Given the description of an element on the screen output the (x, y) to click on. 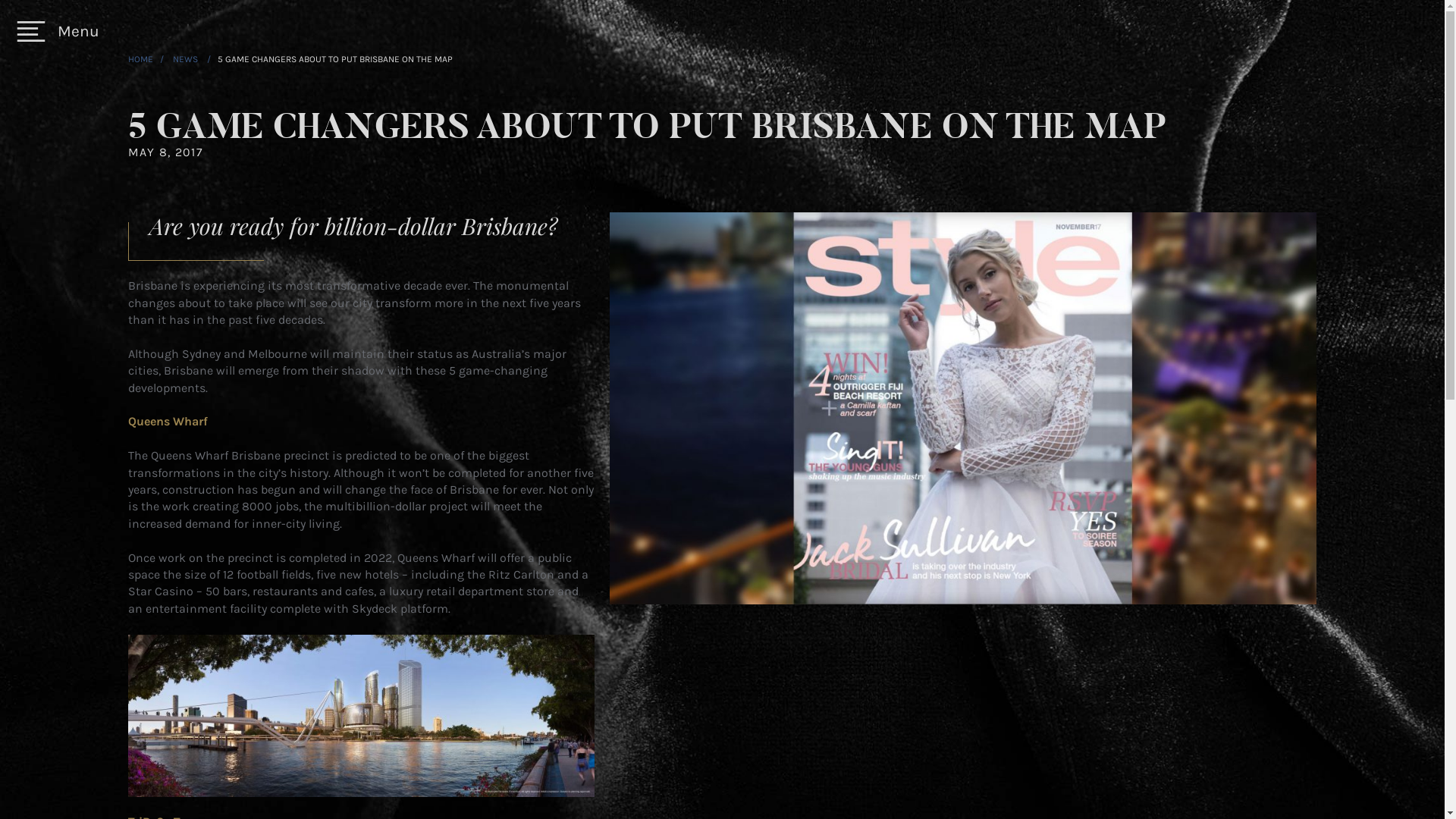
NEWS Element type: text (186, 58)
Skip to primary navigation Element type: text (0, 0)
Menu Element type: text (57, 31)
Queens Wharf Element type: text (167, 421)
HOME Element type: text (140, 58)
